Given the description of an element on the screen output the (x, y) to click on. 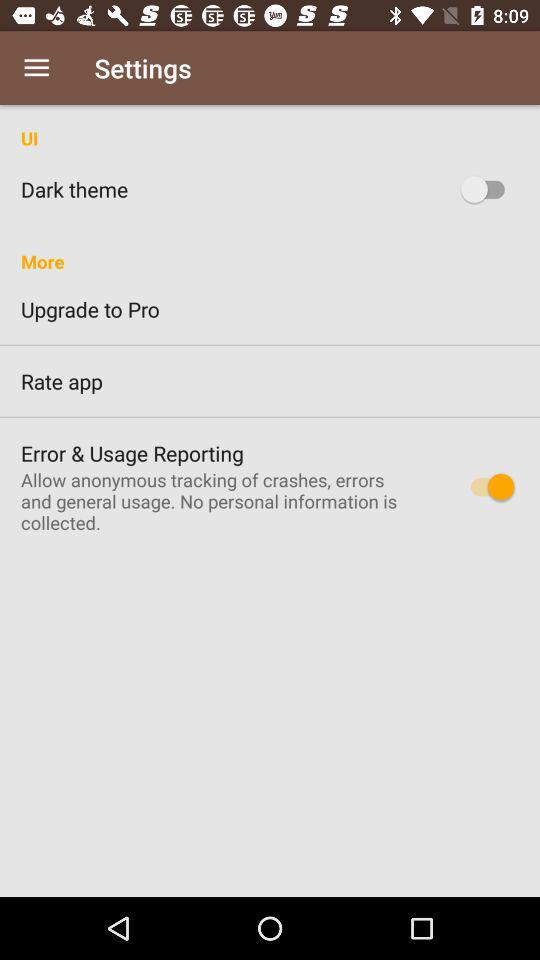
click rate app (270, 381)
